Given the description of an element on the screen output the (x, y) to click on. 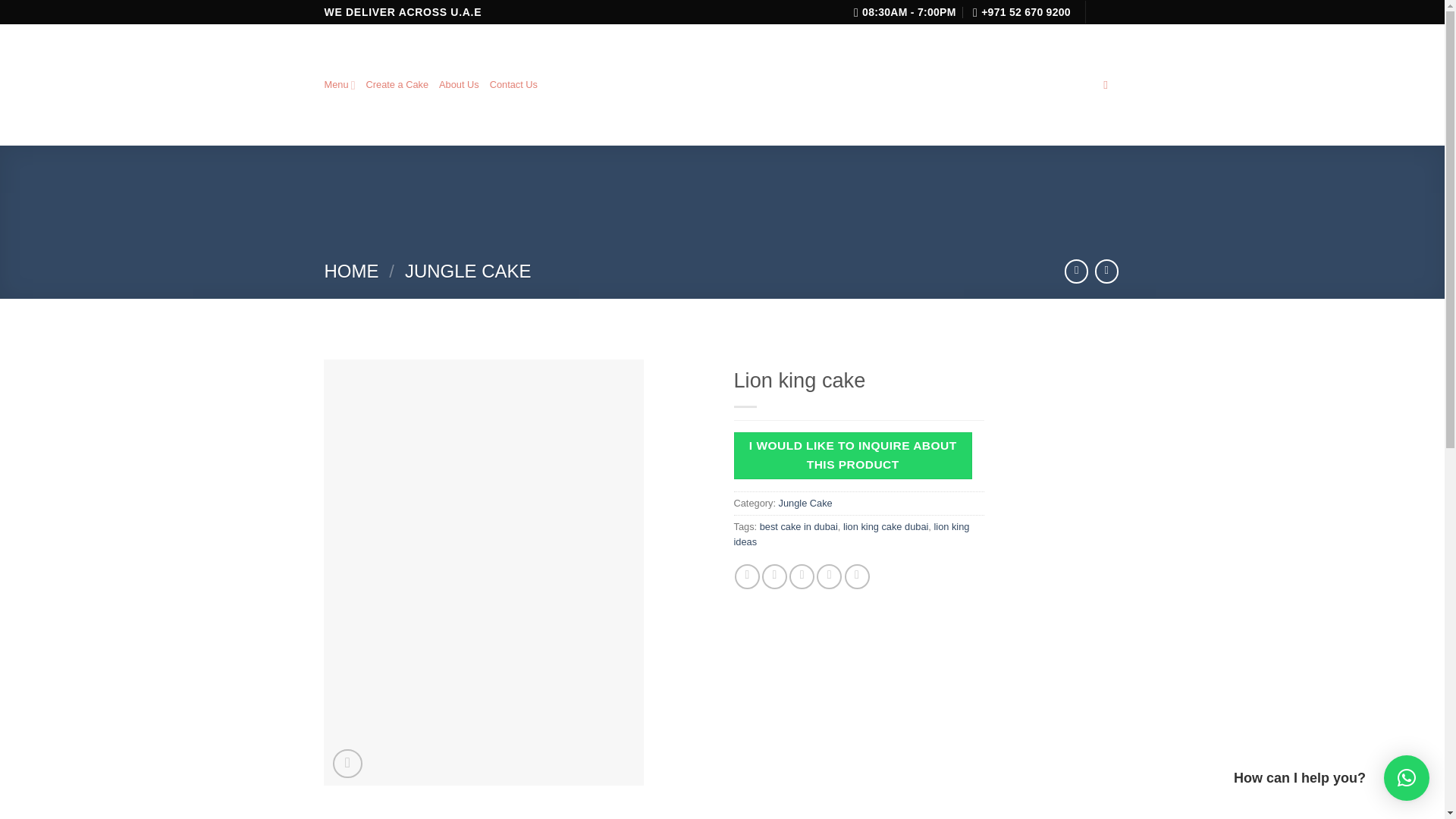
Jungle Cake (805, 502)
Share on Facebook (747, 576)
JUNGLE CAKE (467, 271)
lion king ideas (851, 533)
08:30AM - 7:00PM (904, 12)
Menu (339, 84)
Zoom (347, 763)
Email to a Friend (801, 576)
Contact Us (513, 84)
